Given the description of an element on the screen output the (x, y) to click on. 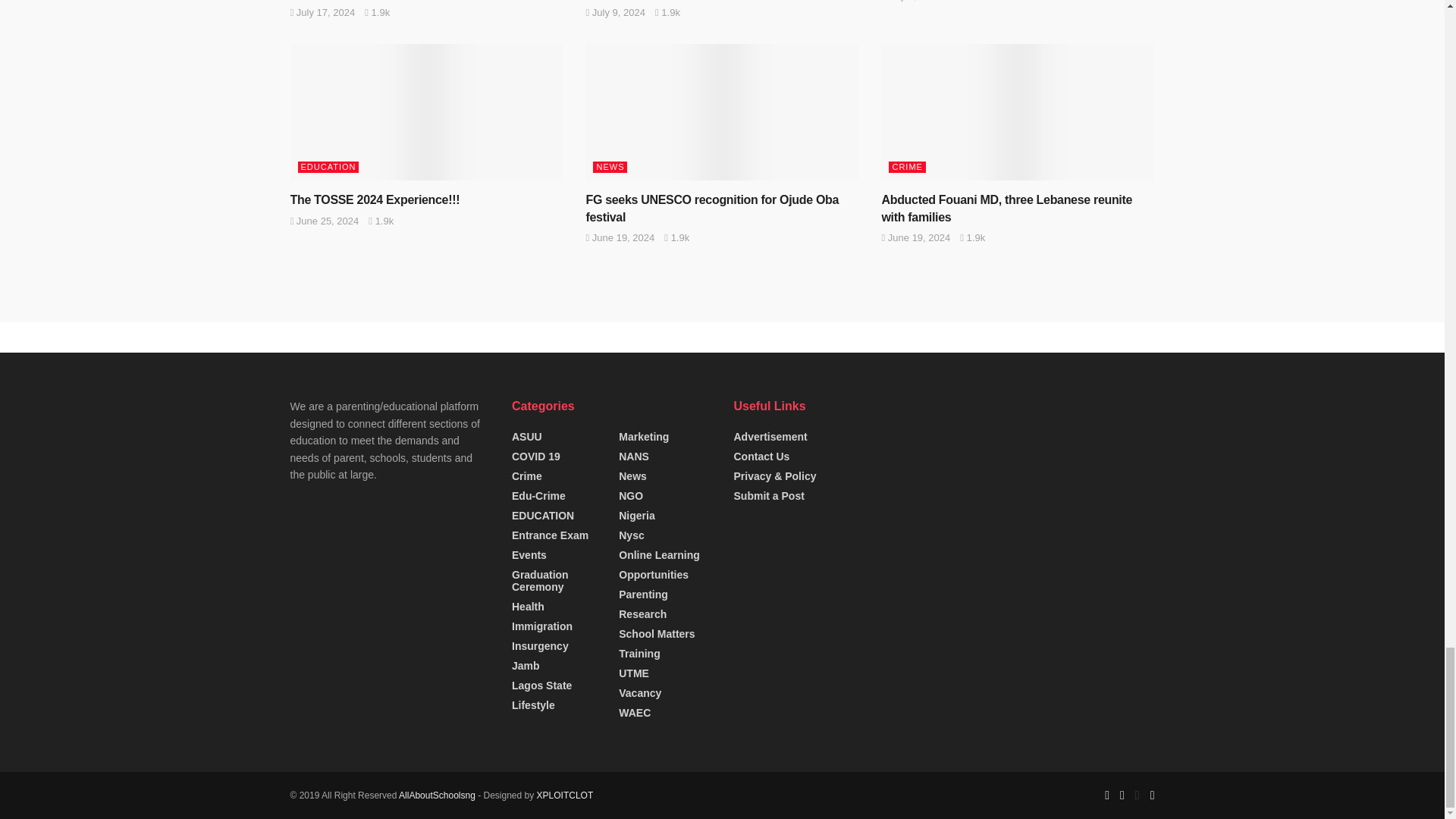
Education  (565, 795)
Education  (437, 795)
